Given the description of an element on the screen output the (x, y) to click on. 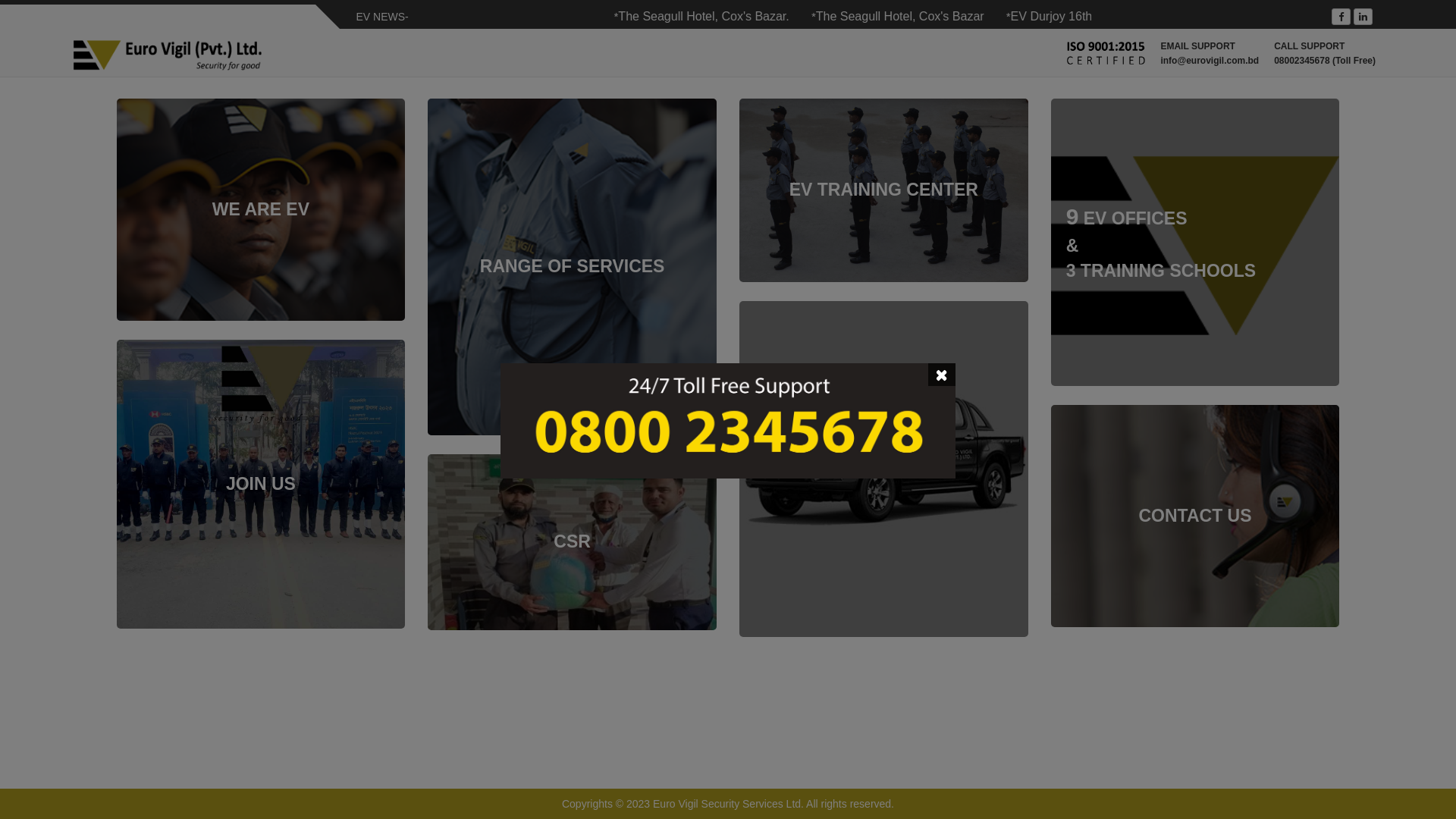
JOIN US Element type: text (260, 483)
CONTACT US Element type: text (1195, 515)
Facebook Element type: hover (1340, 16)
9 EV OFFICES
&
3 TRAINING SCHOOLS Element type: text (1195, 241)
MEDIA Element type: text (883, 469)
The Seagull Hotel, Cox's Bazar Element type: text (931, 15)
CSR Element type: text (571, 542)
RANGE OF SERVICES Element type: text (571, 266)
EV TRAINING CENTER Element type: text (883, 190)
EV Durjoy 16th Edition Element type: text (1102, 15)
WE ARE EV Element type: text (260, 209)
Linkedin Element type: hover (1362, 16)
15th Edition of " DURJOY" Newsletter Published Element type: text (1320, 15)
The Seagull Hotel, Cox's Bazar. Element type: text (736, 15)
